Given the description of an element on the screen output the (x, y) to click on. 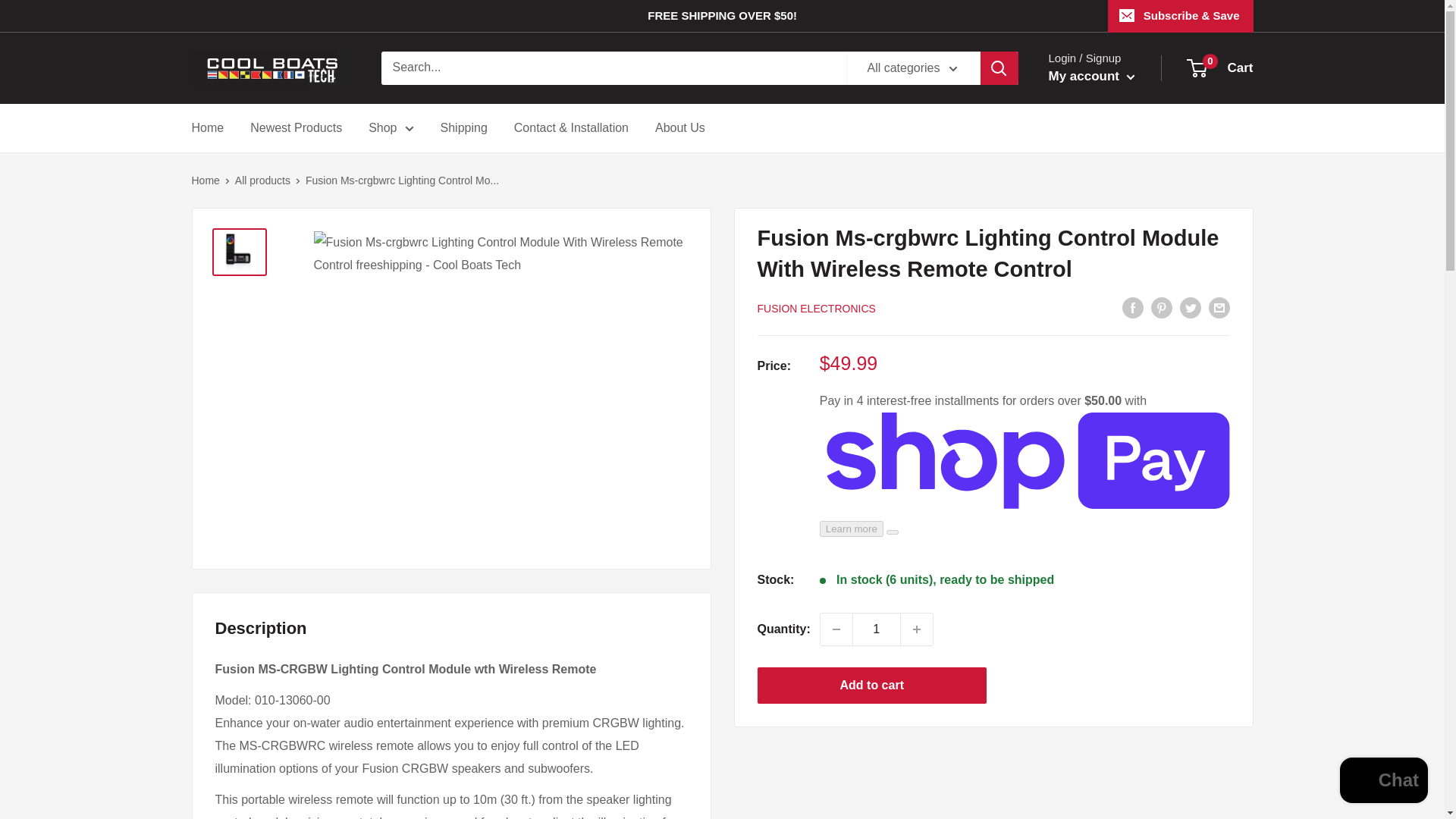
1 (876, 629)
Increase quantity by 1 (917, 629)
Decrease quantity by 1 (836, 629)
Shopify online store chat (1383, 781)
